Given the description of an element on the screen output the (x, y) to click on. 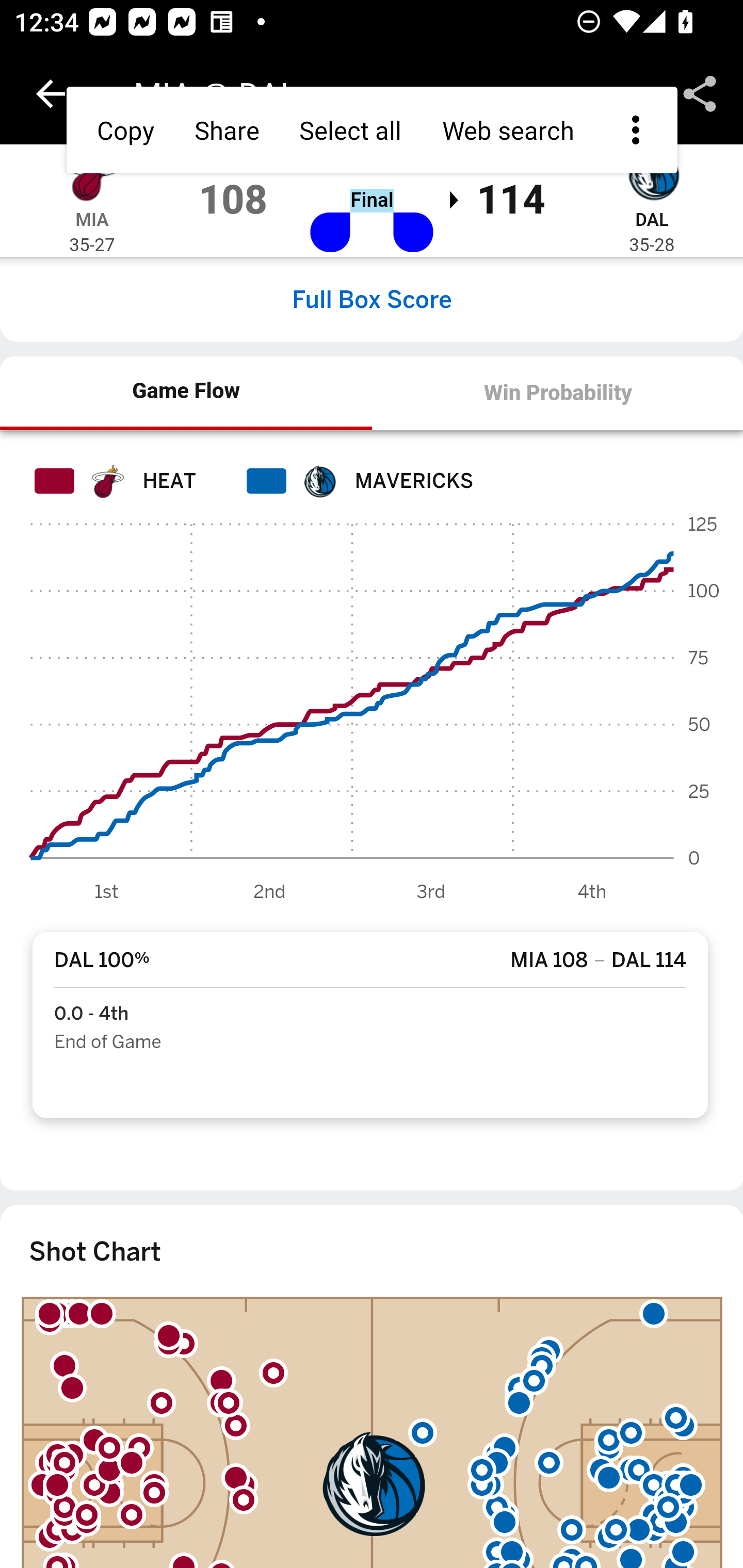
Navigate up (50, 93)
Share (699, 93)
Miami Heat (91, 173)
Dallas Mavericks (651, 173)
MIA (91, 219)
DAL (651, 219)
Full Box Score (371, 299)
Game Flow (186, 391)
Win Probability (557, 393)
Heat (106, 481)
#0064b1 (318, 481)
